Given the description of an element on the screen output the (x, y) to click on. 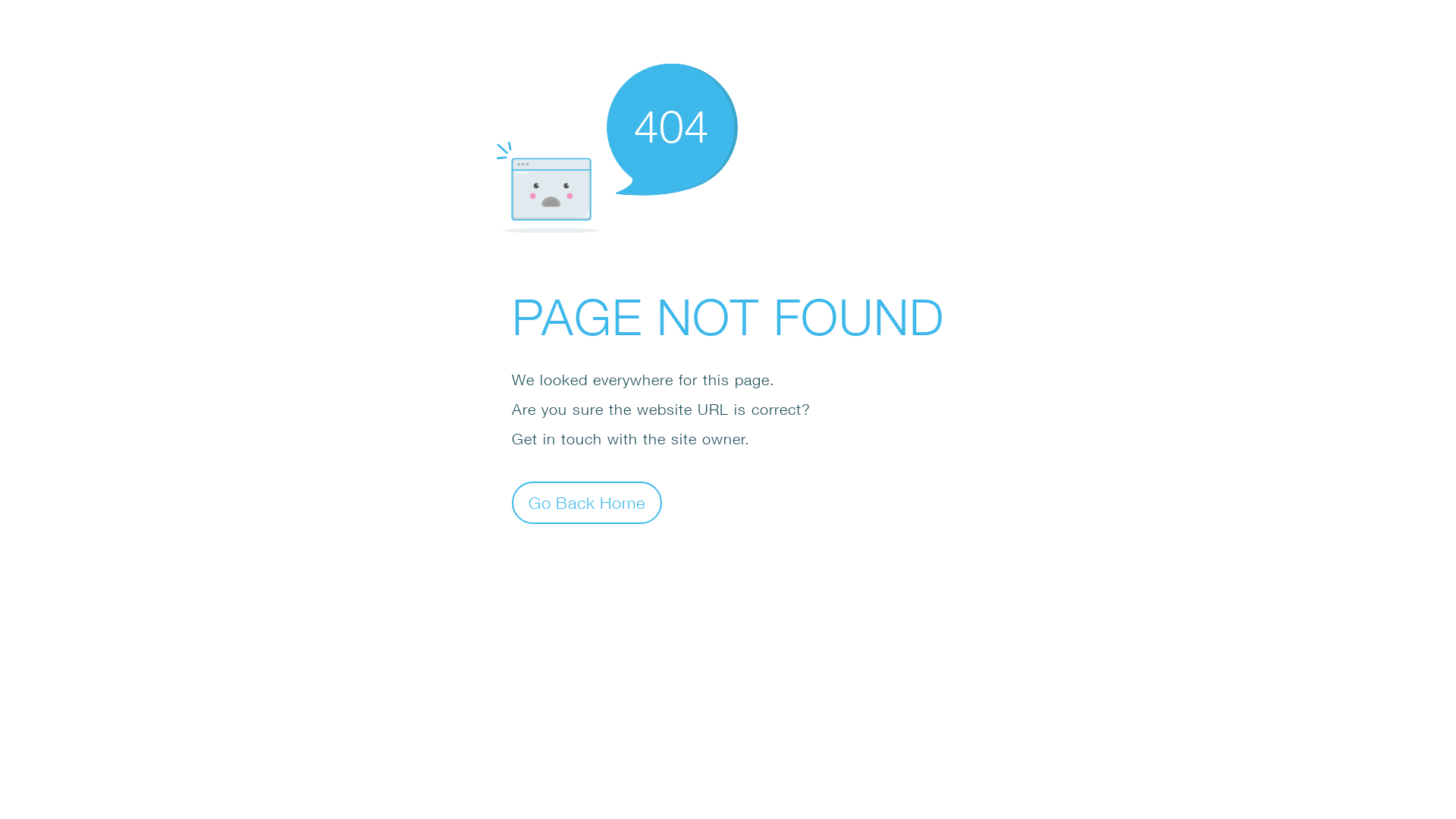
Go Back Home Element type: text (586, 502)
